Given the description of an element on the screen output the (x, y) to click on. 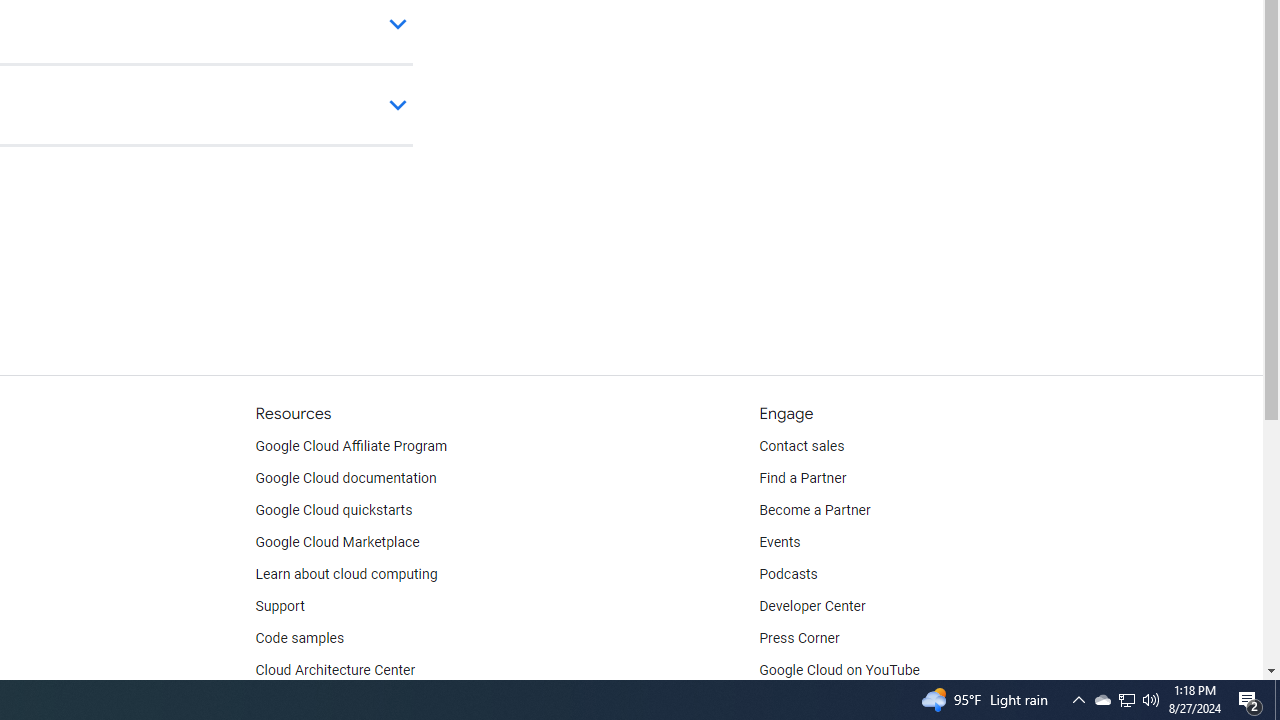
Contact sales (801, 446)
Google Cloud on YouTube (839, 670)
